Given the description of an element on the screen output the (x, y) to click on. 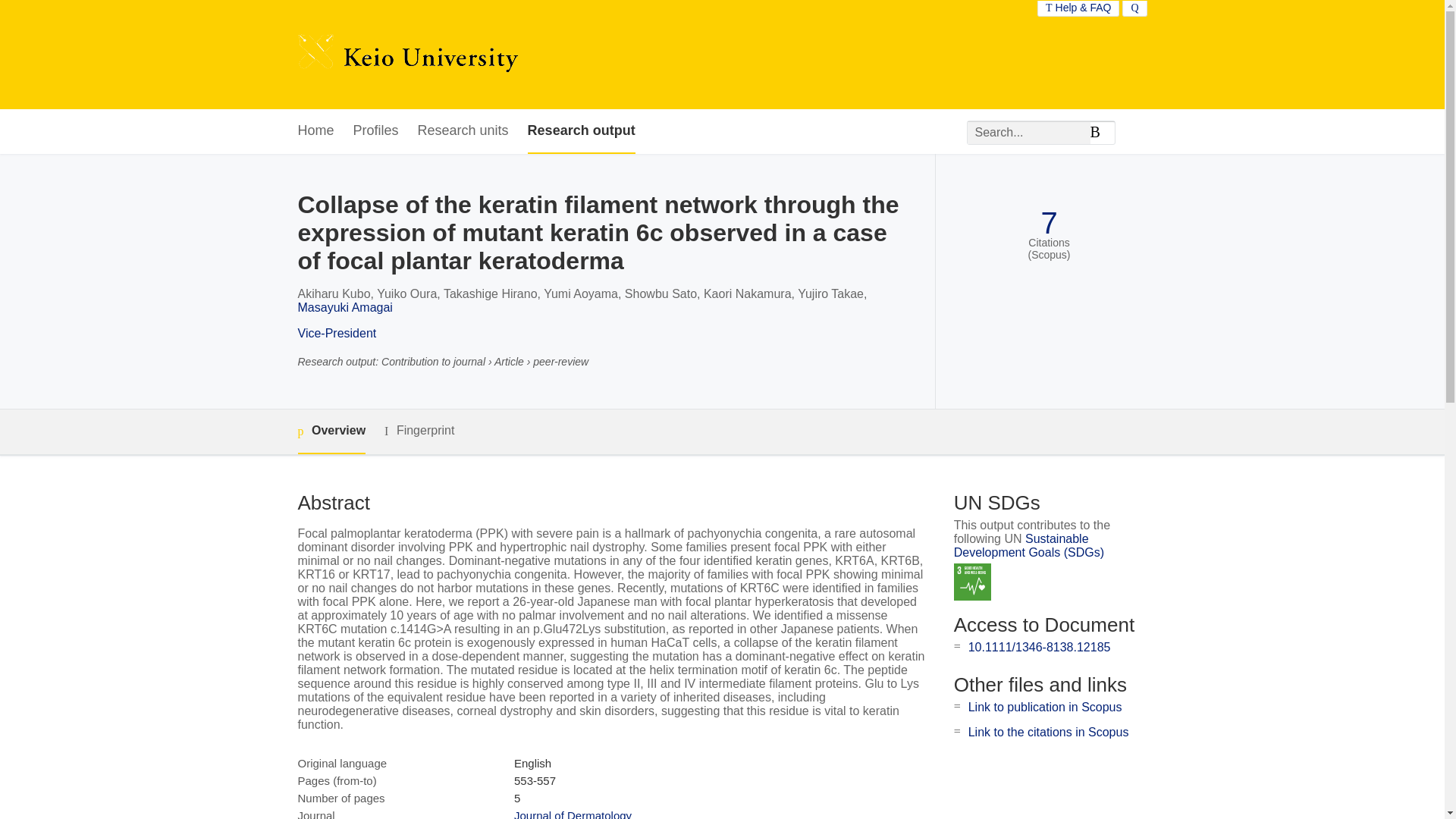
Link to publication in Scopus (1045, 707)
Vice-President (336, 332)
Research units (462, 130)
Masayuki Amagai (344, 307)
Fingerprint (419, 430)
Research output (580, 130)
Profiles (375, 130)
Journal of Dermatology (572, 814)
Link to the citations in Scopus (1048, 731)
